Given the description of an element on the screen output the (x, y) to click on. 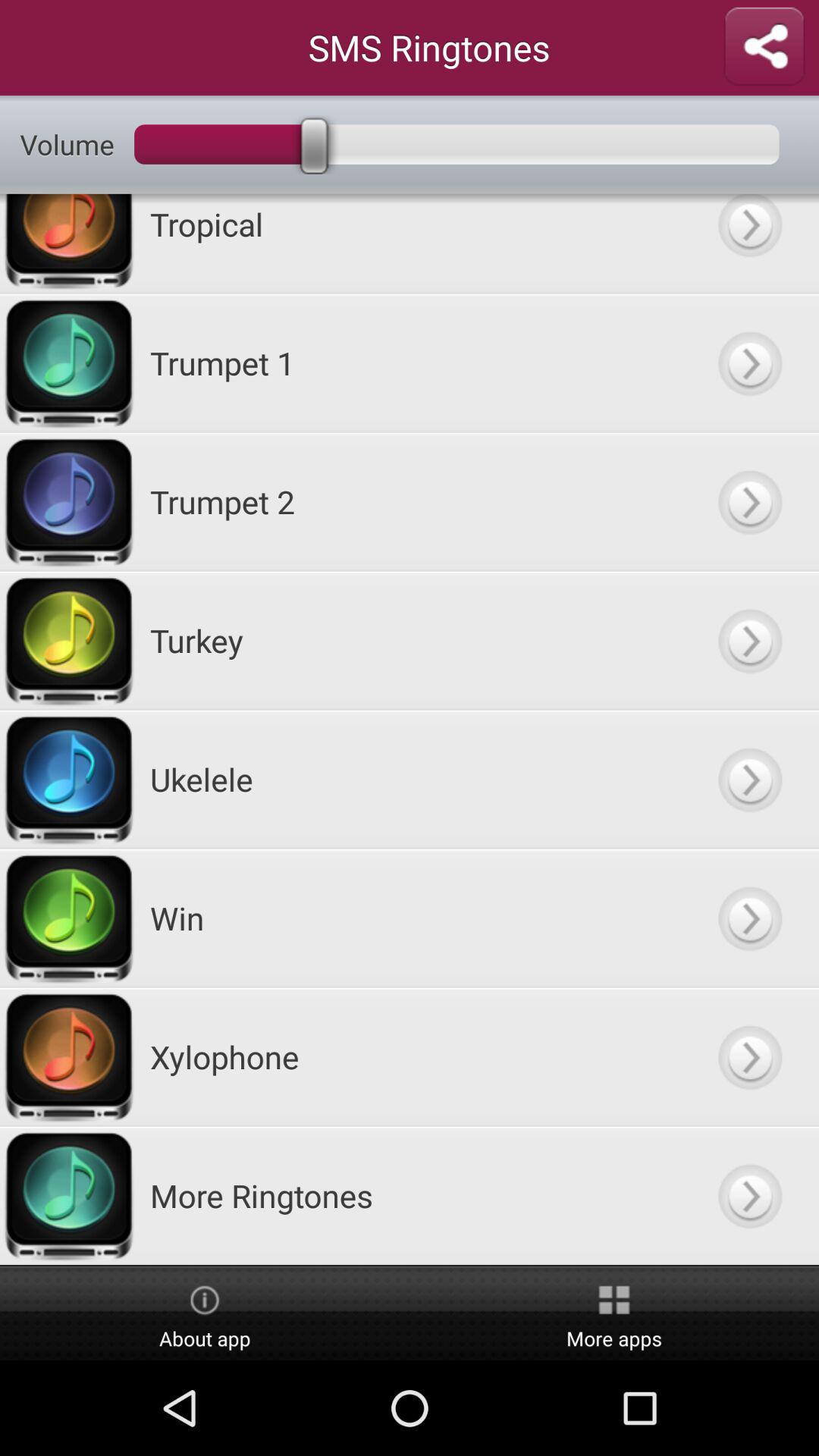
tap to select (749, 363)
